Given the description of an element on the screen output the (x, y) to click on. 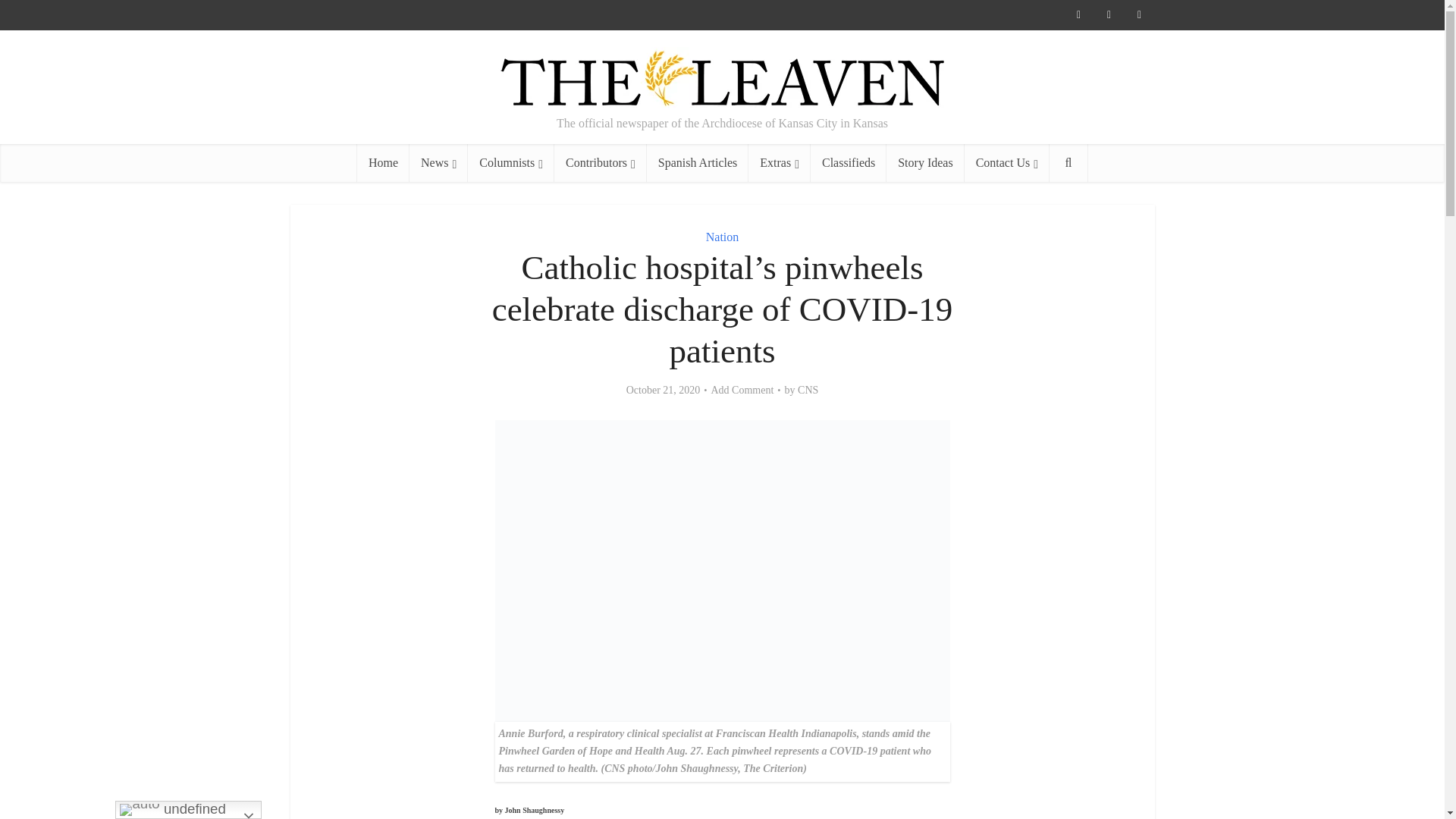
Home (382, 162)
None (438, 162)
Spanish Articles (697, 162)
Columnists (510, 162)
Extras (779, 162)
News (438, 162)
Classifieds (848, 162)
Contributors (600, 162)
